Given the description of an element on the screen output the (x, y) to click on. 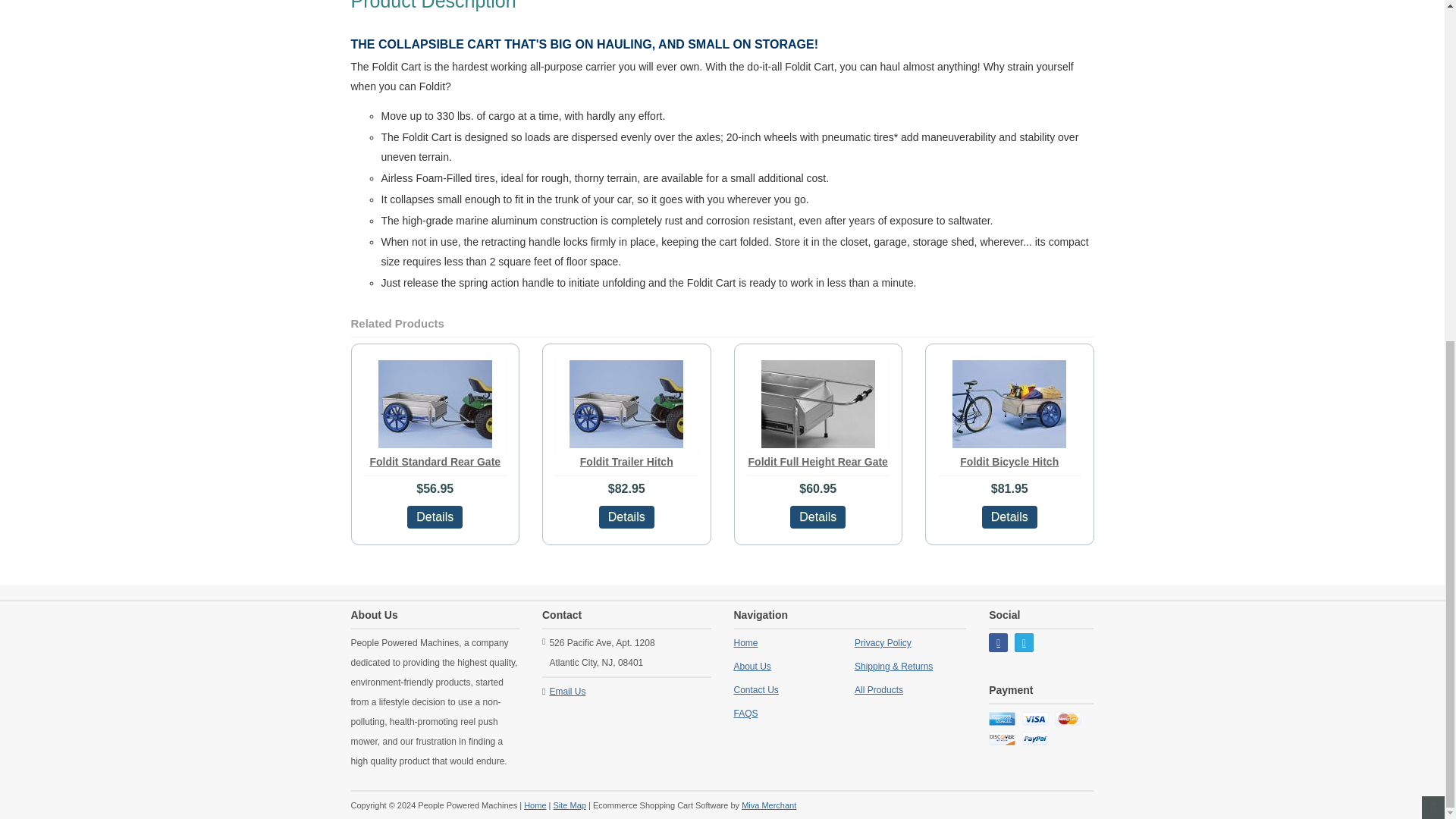
PayPal (1035, 739)
MasterCard (1067, 718)
Discover (1001, 739)
American Express (1001, 718)
Visa (1035, 718)
